Given the description of an element on the screen output the (x, y) to click on. 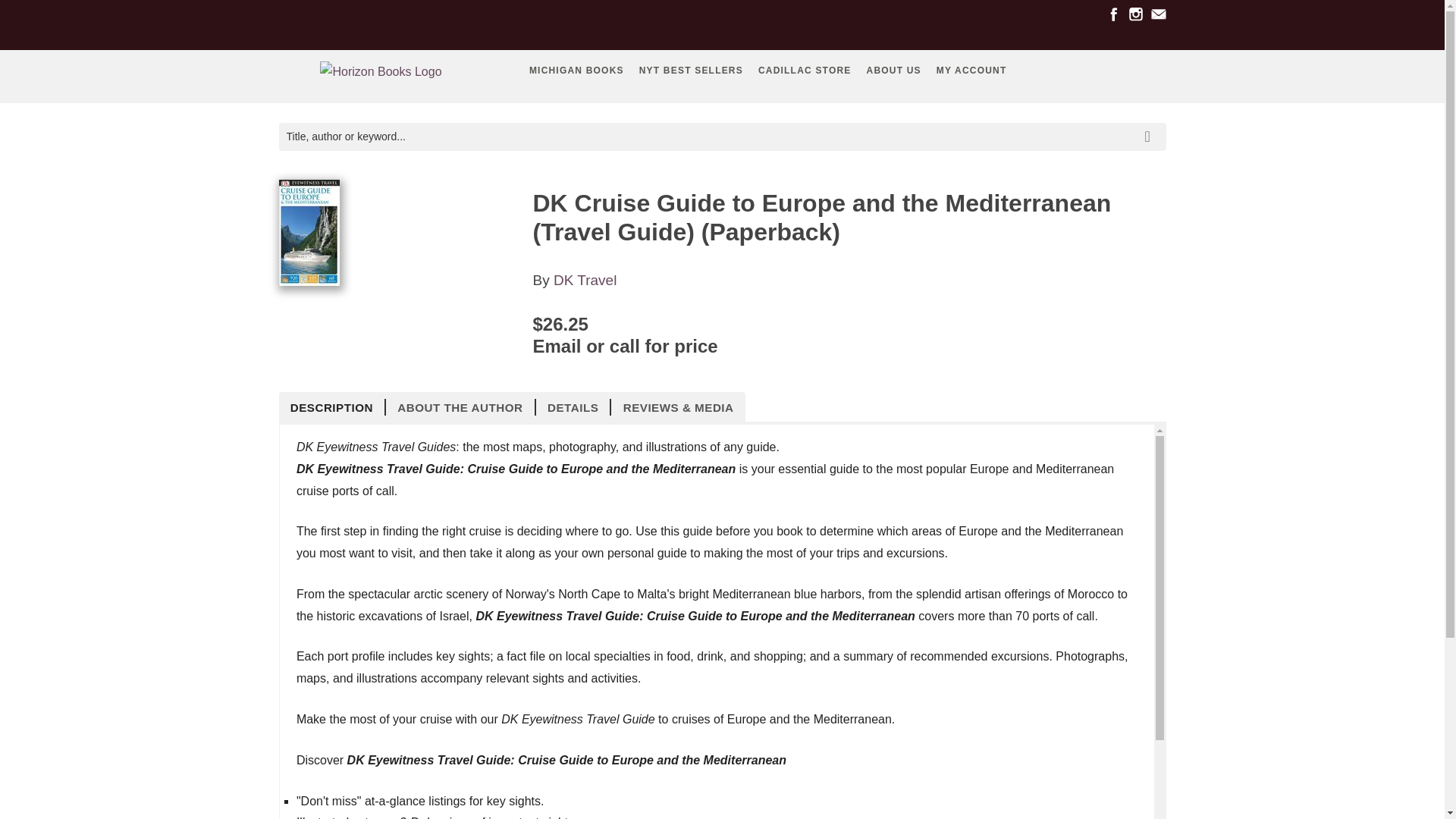
search (1150, 124)
CADILLAC STORE (805, 69)
DETAILS (573, 406)
ABOUT US (893, 69)
DK Travel (584, 279)
Title, author or keyword... (722, 136)
NYT BEST SELLERS (691, 69)
ABOUT THE AUTHOR (460, 406)
Home (380, 74)
